Given the description of an element on the screen output the (x, y) to click on. 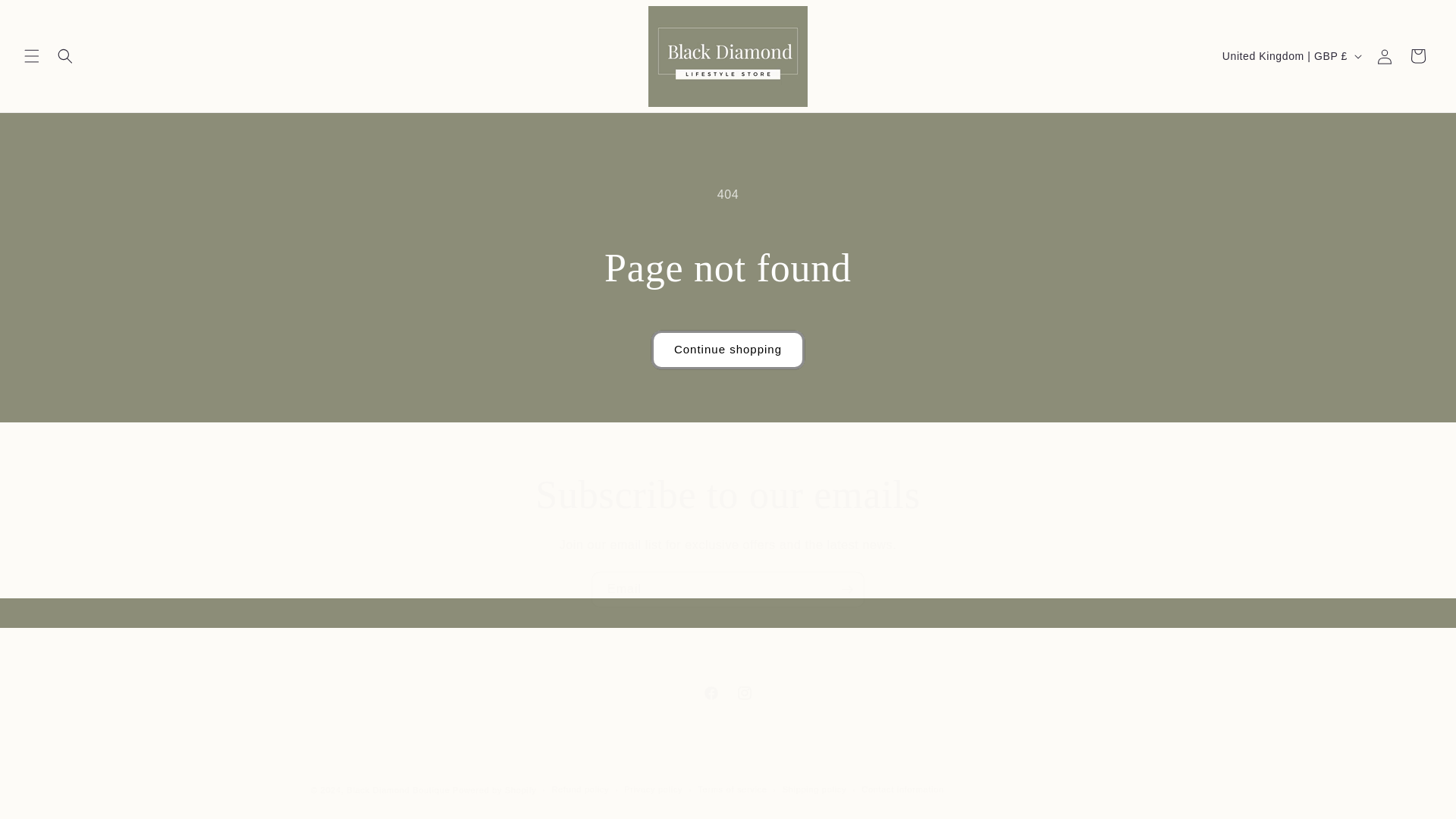
Skip to content (47, 18)
Email (727, 589)
Subscribe to our emails (727, 494)
Log in (1384, 55)
